Given the description of an element on the screen output the (x, y) to click on. 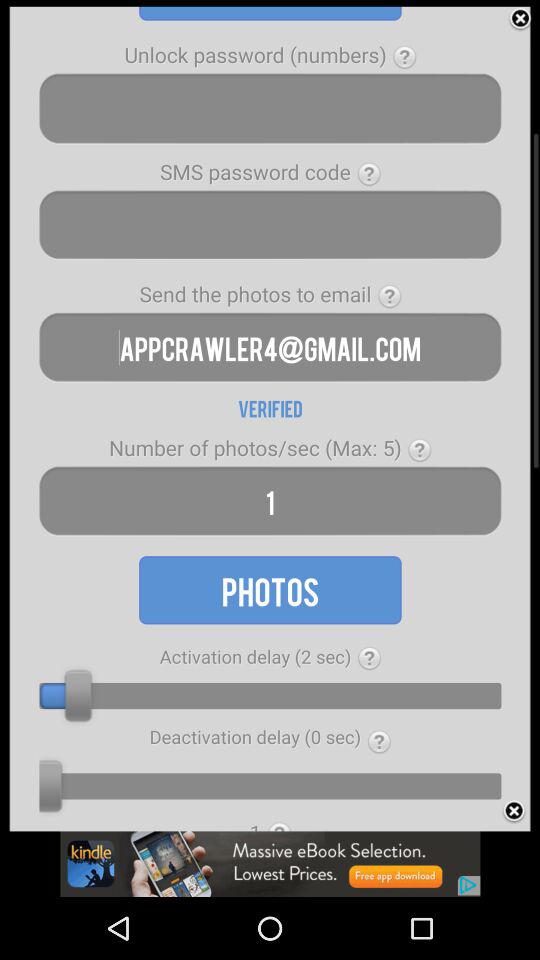
open information about the entry (389, 296)
